Given the description of an element on the screen output the (x, y) to click on. 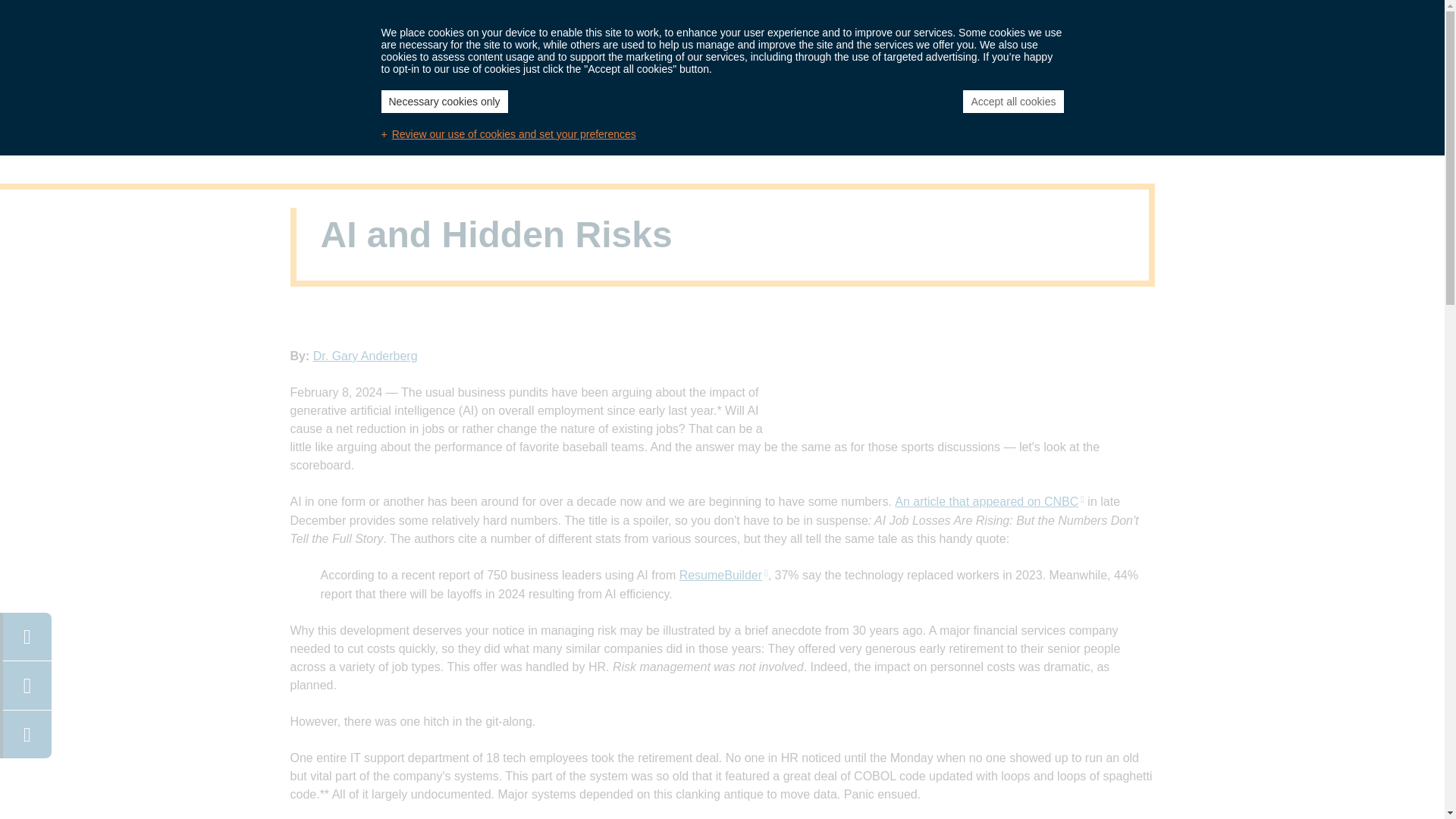
Information for Claimants (837, 15)
North America (351, 17)
Share Via LinkedIn (26, 683)
Share Via Email (26, 635)
Solutions (700, 61)
Information for Clients (683, 15)
Share Via X (26, 733)
Join Our Team (557, 15)
Gallagher Bassett (398, 66)
